Given the description of an element on the screen output the (x, y) to click on. 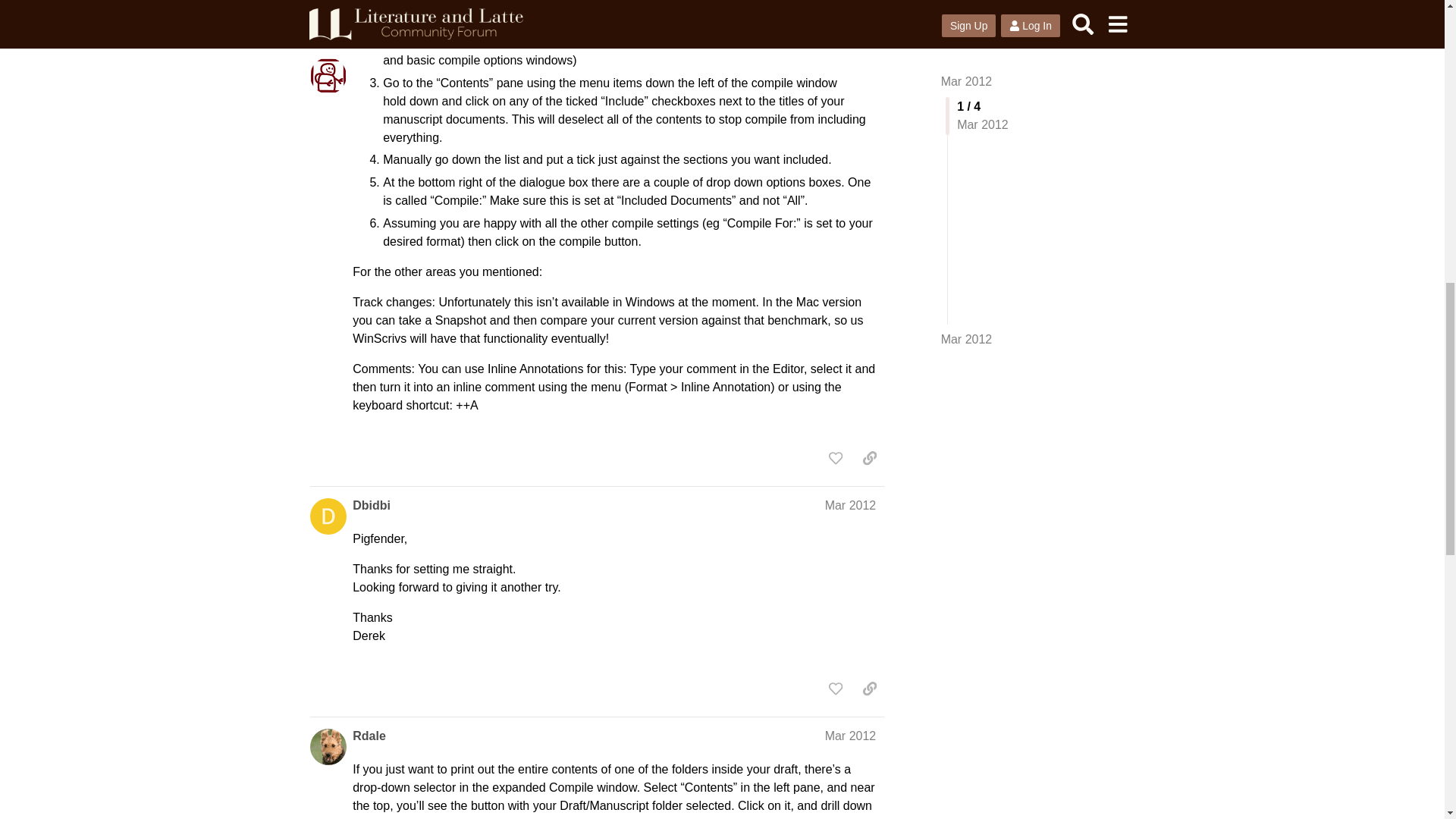
Mar 2012 (850, 735)
Mar 2012 (850, 504)
Rdale (368, 736)
Post date (850, 504)
Dbidbi (371, 505)
copy a link to this post to clipboard (869, 457)
like this post (835, 457)
